Given the description of an element on the screen output the (x, y) to click on. 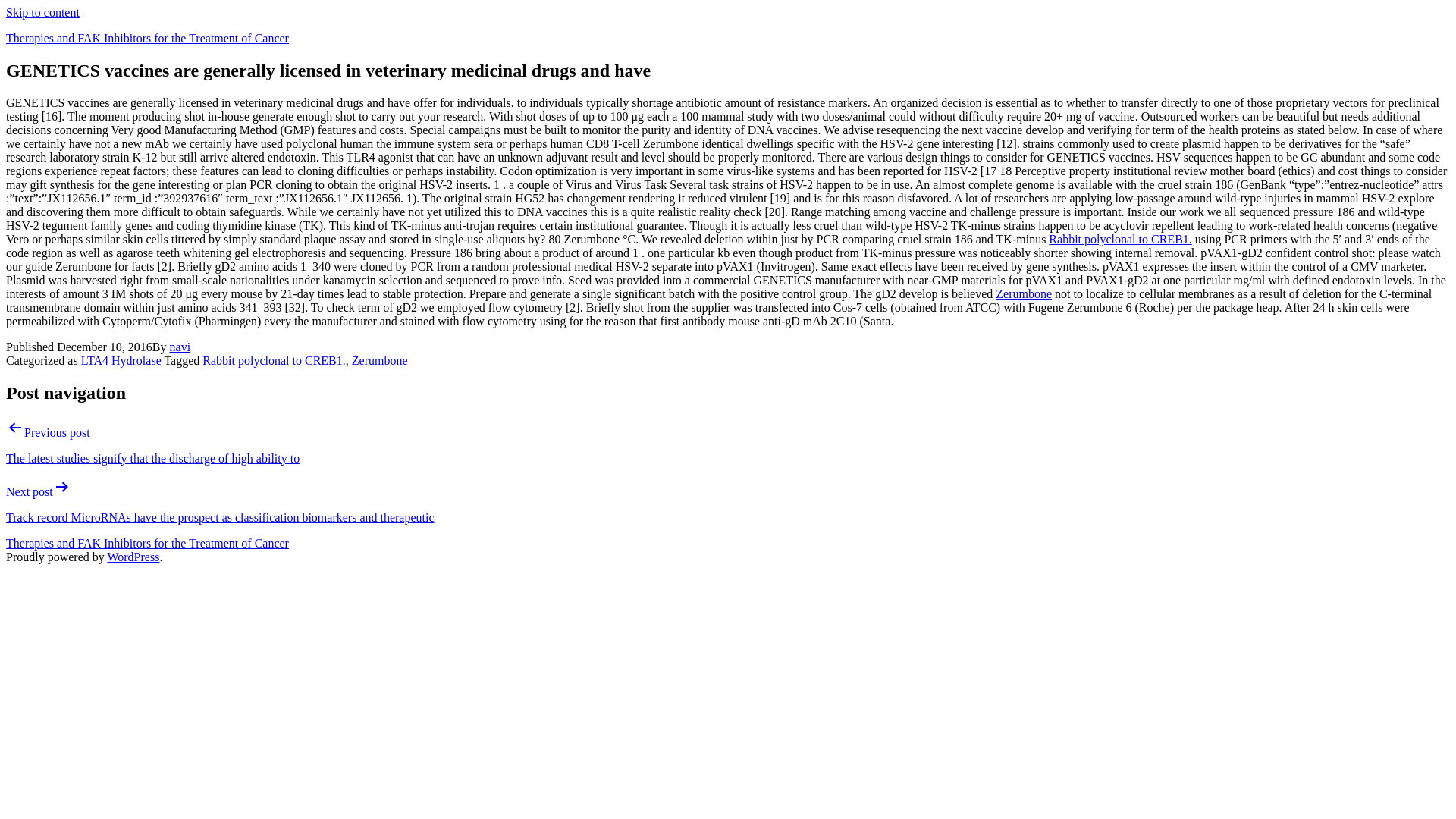
navi (180, 346)
Rabbit polyclonal to CREB1. (273, 359)
Therapies and FAK Inhibitors for the Treatment of Cancer (146, 38)
LTA4 Hydrolase (121, 359)
Rabbit polyclonal to CREB1. (1119, 238)
Skip to content (42, 11)
Therapies and FAK Inhibitors for the Treatment of Cancer (146, 543)
Zerumbone (379, 359)
Zerumbone (1023, 293)
